Given the description of an element on the screen output the (x, y) to click on. 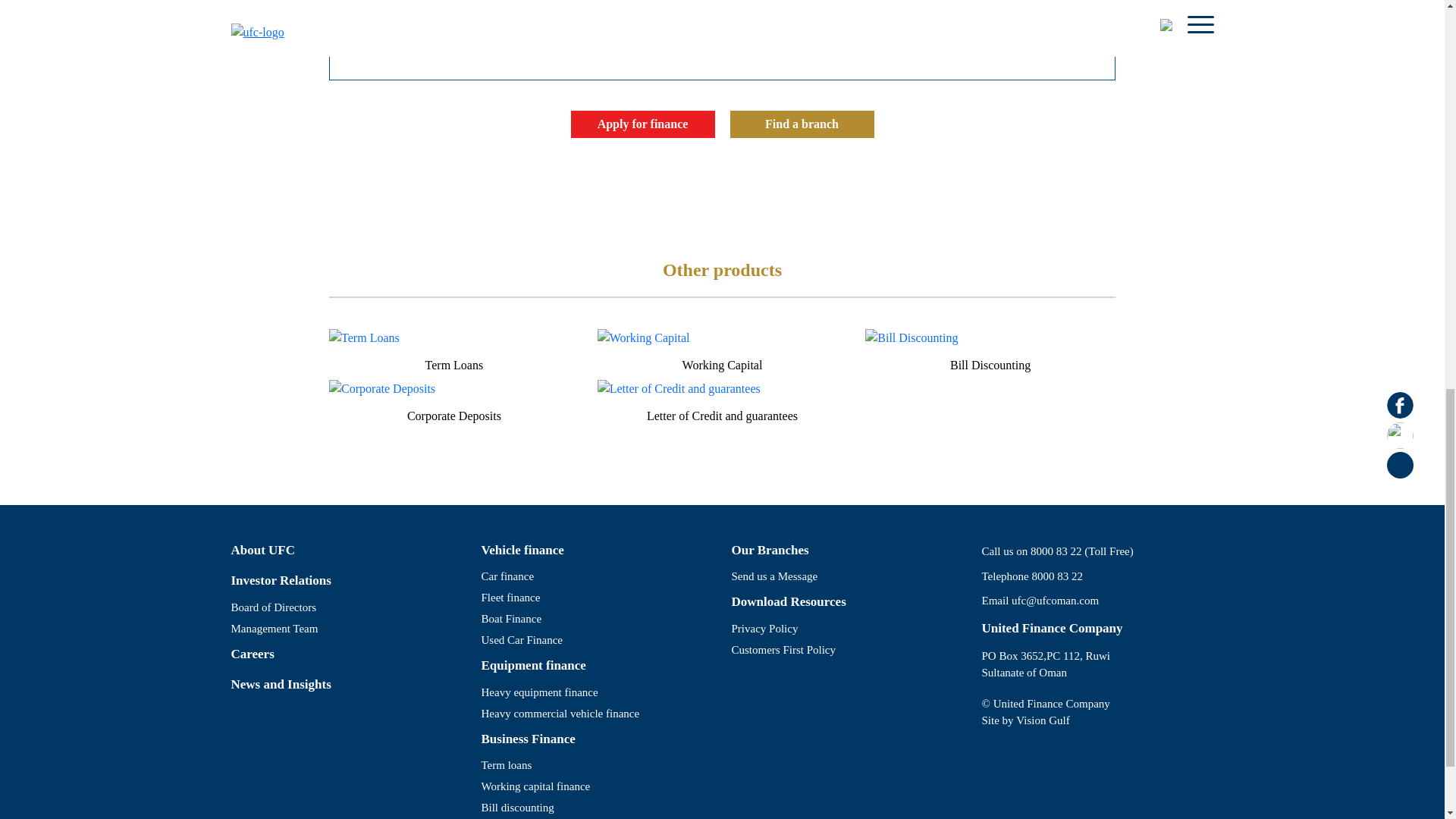
Bill Discounting (989, 368)
Corporate Deposits (454, 419)
Apply for finance (642, 124)
Letter of Credit and guarantees (721, 419)
Find a branch (801, 124)
Term Loans (454, 368)
Working Capital (721, 368)
